Given the description of an element on the screen output the (x, y) to click on. 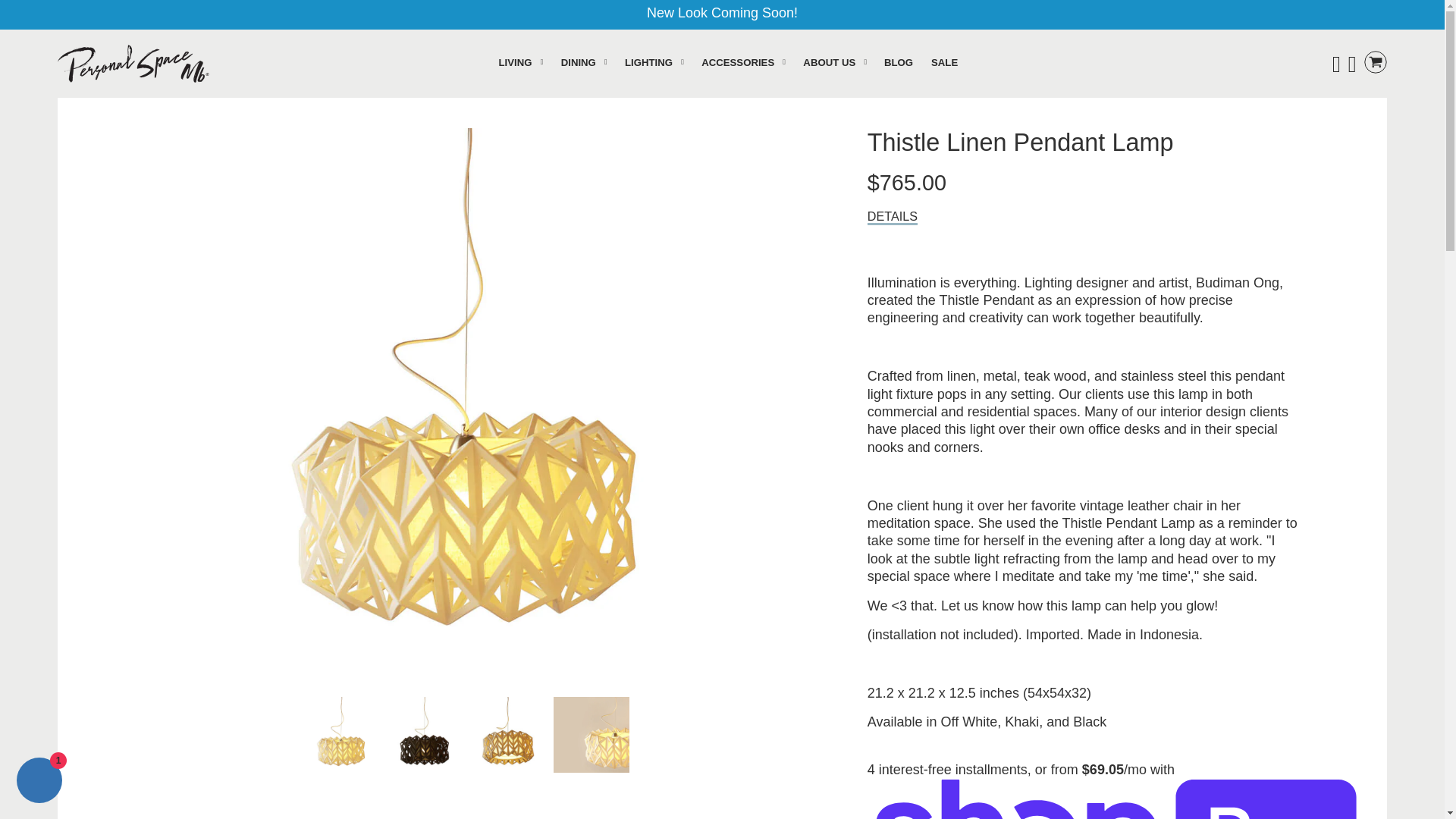
DINING (583, 62)
Shopify online store chat (38, 781)
SALE (944, 61)
ABOUT US (834, 62)
ACCESSORIES (743, 62)
BLOG (898, 61)
LIGHTING (654, 62)
LIVING (521, 62)
